Given the description of an element on the screen output the (x, y) to click on. 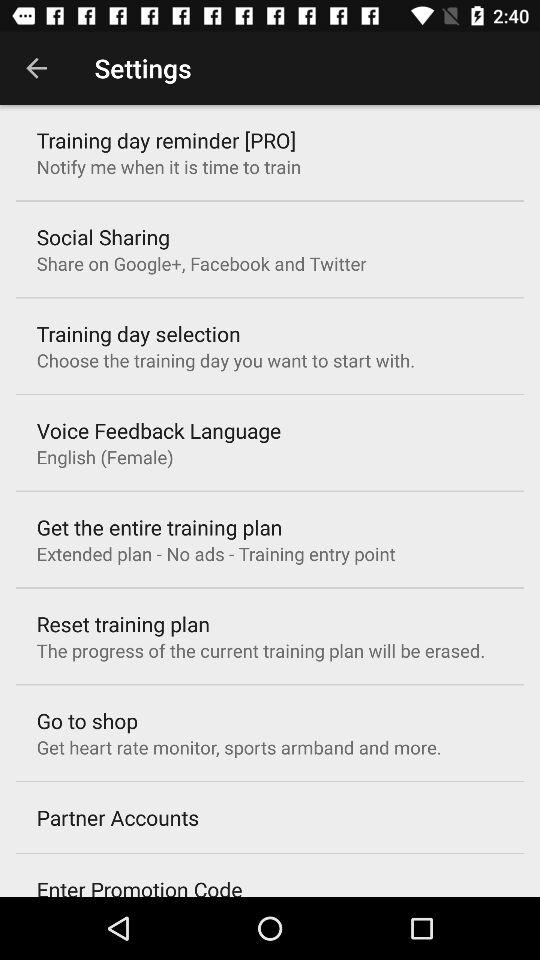
select the icon above english (female) item (158, 430)
